Given the description of an element on the screen output the (x, y) to click on. 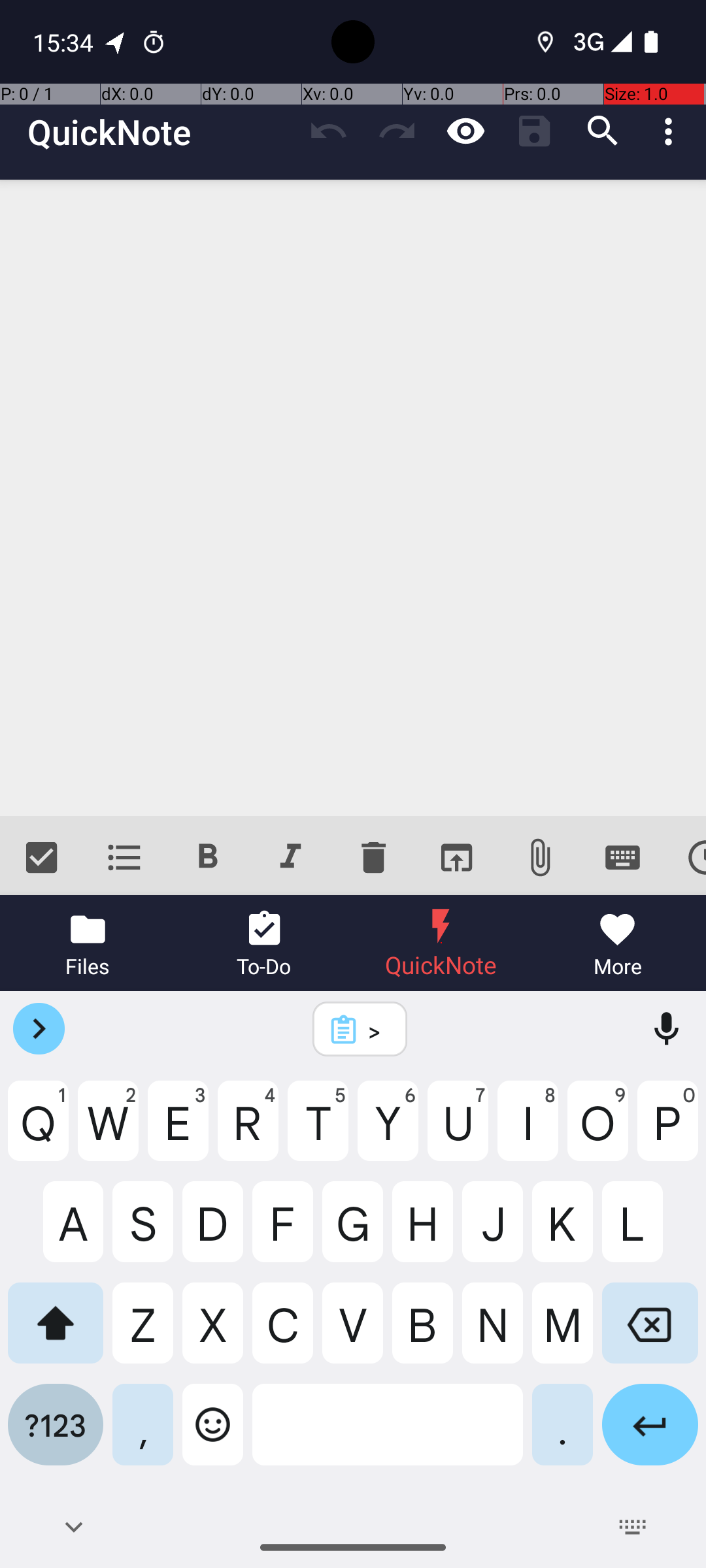
>  Element type: android.widget.TextView (377, 1029)
